Given the description of an element on the screen output the (x, y) to click on. 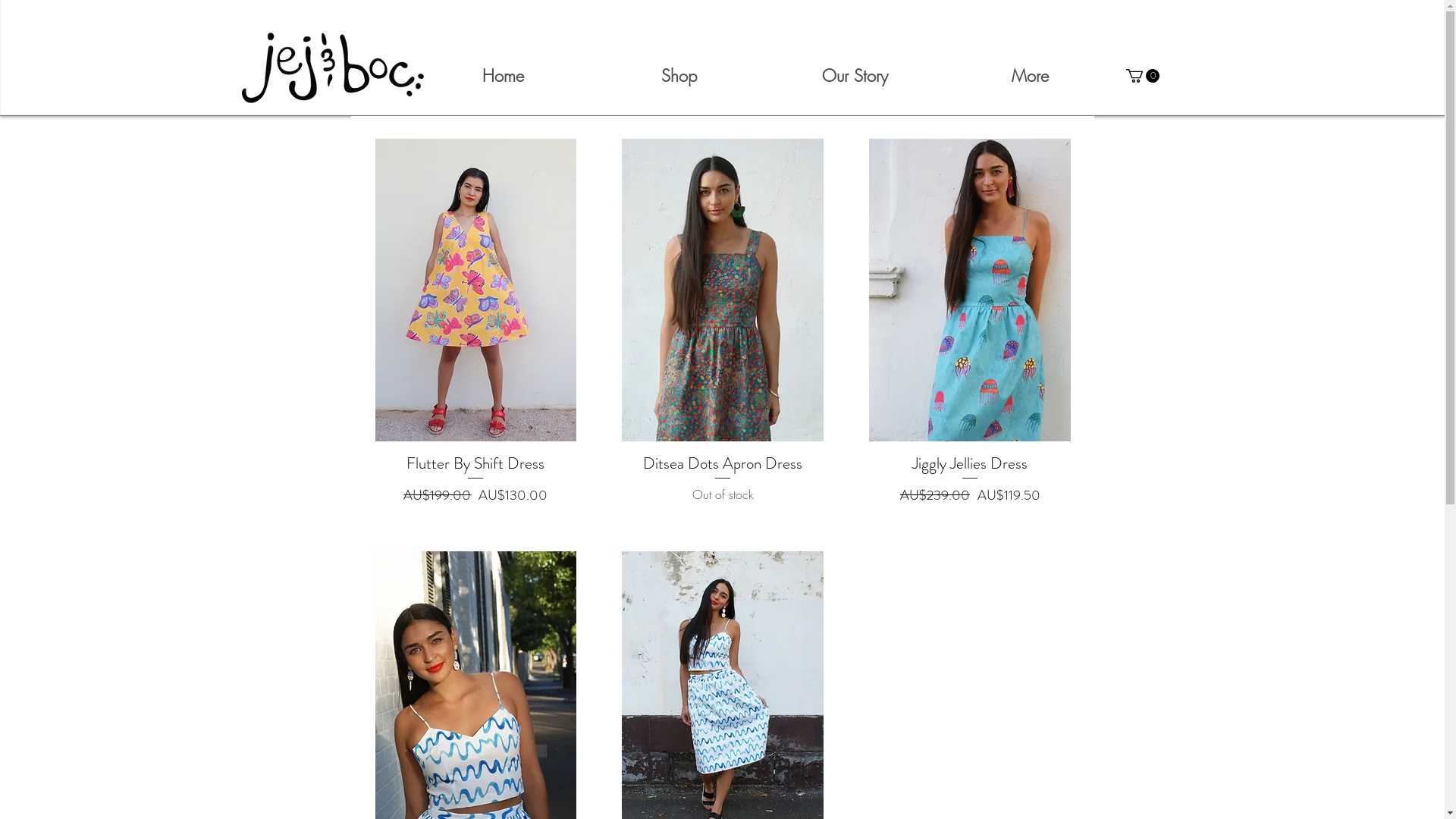
Our Story Element type: text (854, 75)
Home Element type: text (503, 75)
0 Element type: text (1141, 75)
Ditsea Dots Apron Dress
Out of stock Element type: text (722, 479)
